Given the description of an element on the screen output the (x, y) to click on. 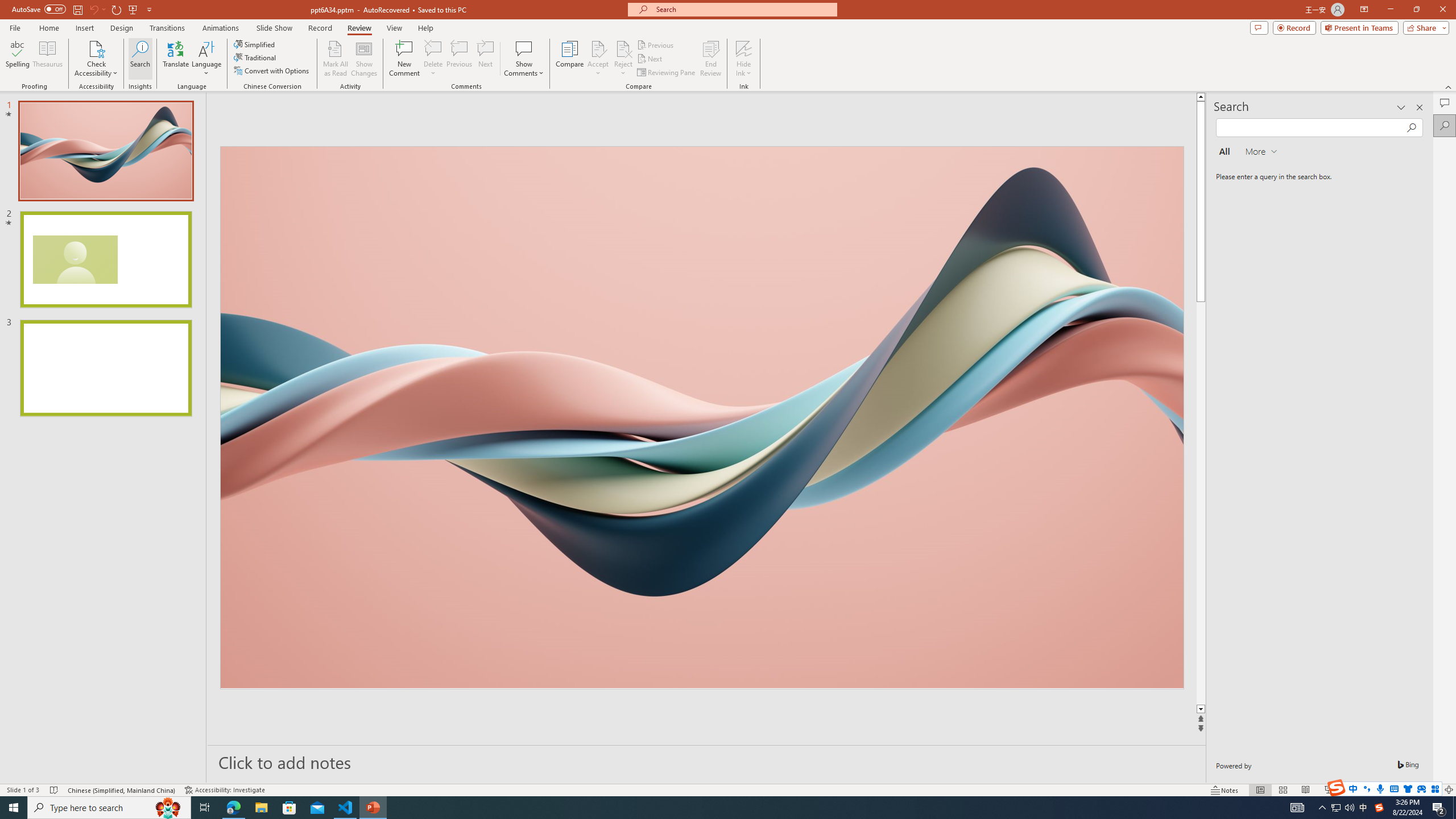
Zoom 133% (1430, 790)
Show Changes (363, 58)
Delete (432, 58)
Compare (569, 58)
Reviewing Pane (666, 72)
Accept Change (598, 48)
Hide Ink (743, 48)
